Given the description of an element on the screen output the (x, y) to click on. 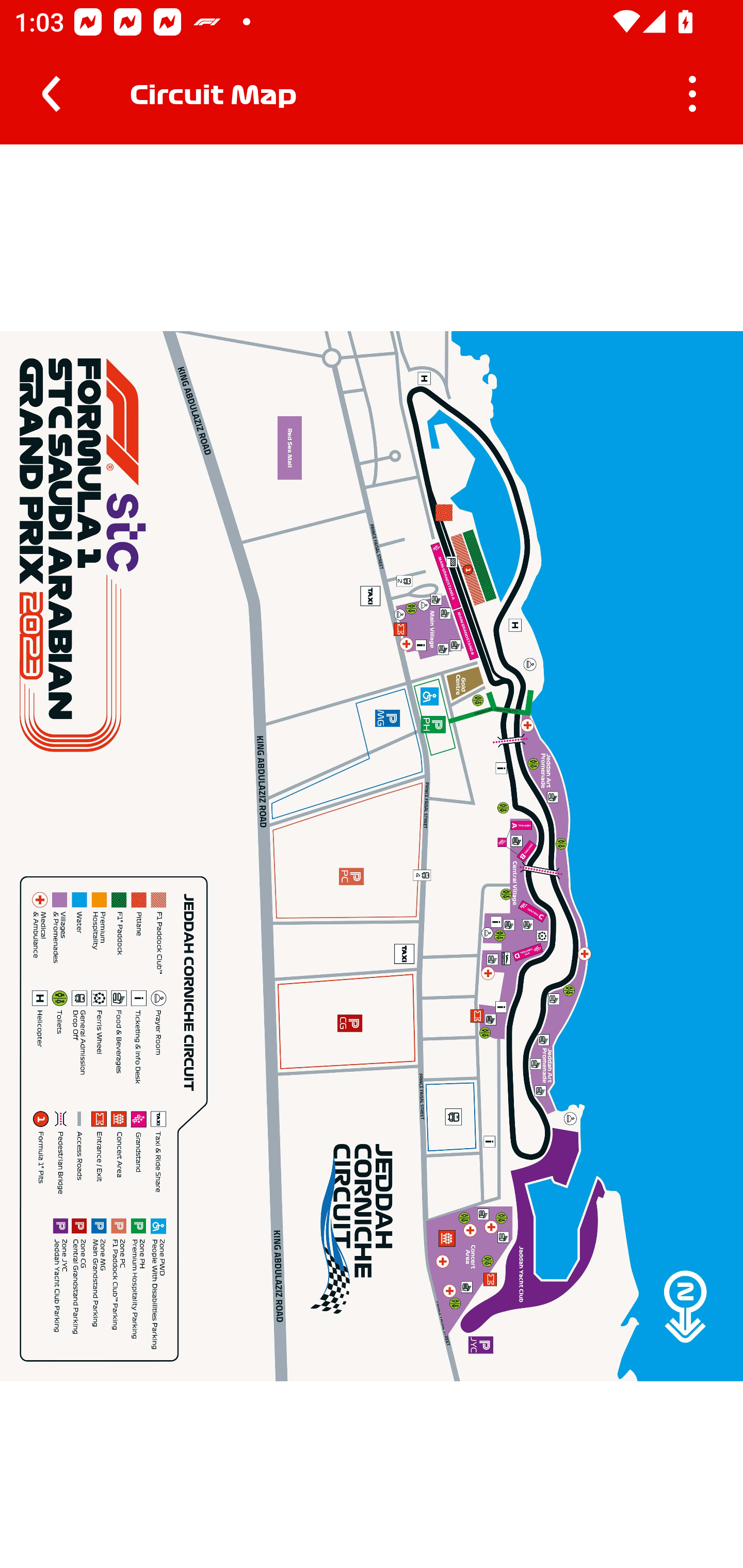
Navigate up (50, 93)
